Given the description of an element on the screen output the (x, y) to click on. 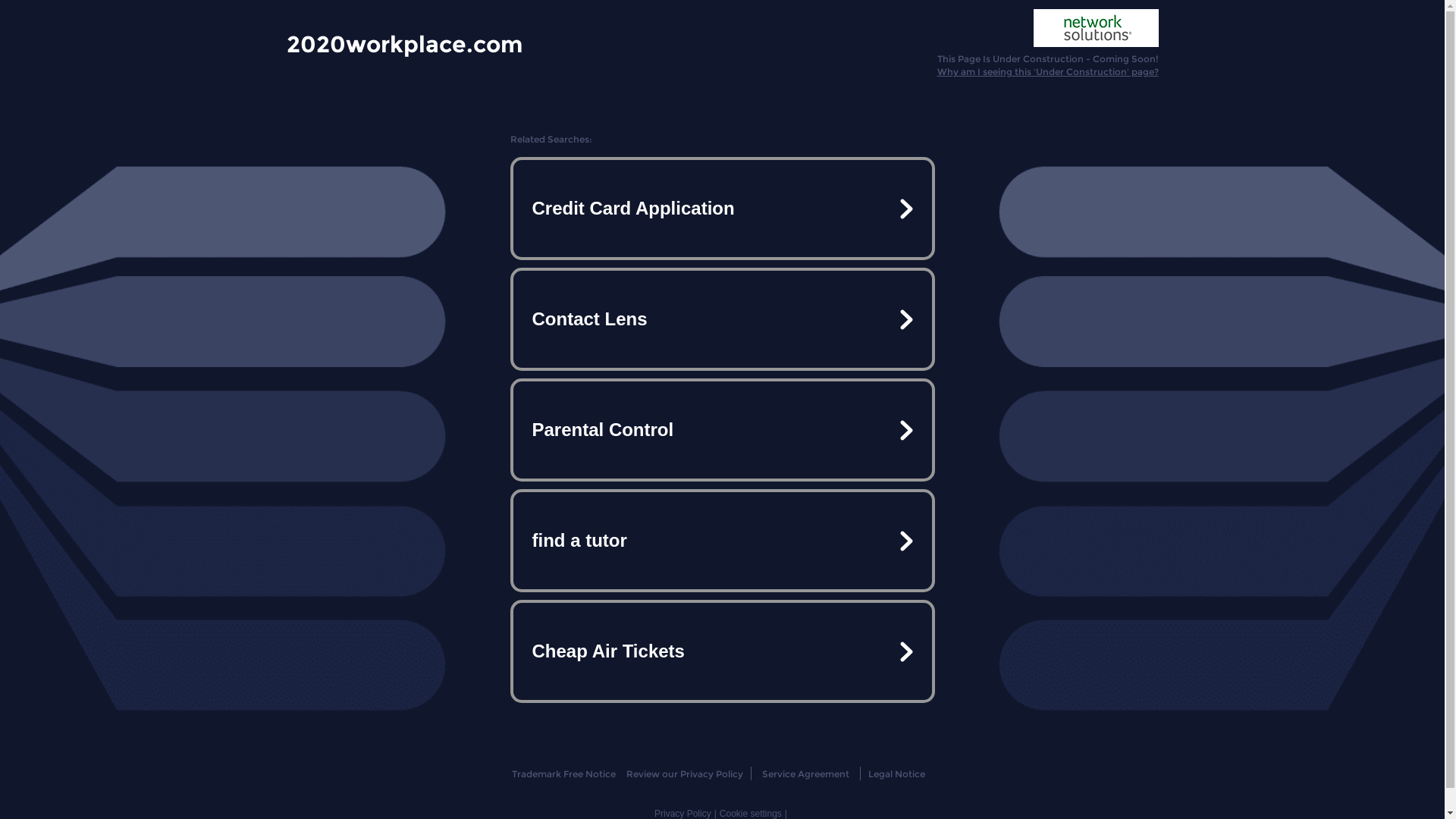
find a tutor Element type: text (721, 540)
Service Agreement Element type: text (805, 773)
Cheap Air Tickets Element type: text (721, 650)
Trademark Free Notice Element type: text (563, 773)
Legal Notice Element type: text (896, 773)
Parental Control Element type: text (721, 429)
2020workplace.com Element type: text (404, 43)
Credit Card Application Element type: text (721, 208)
Contact Lens Element type: text (721, 318)
Review our Privacy Policy Element type: text (684, 773)
Why am I seeing this 'Under Construction' page? Element type: text (1047, 71)
